Given the description of an element on the screen output the (x, y) to click on. 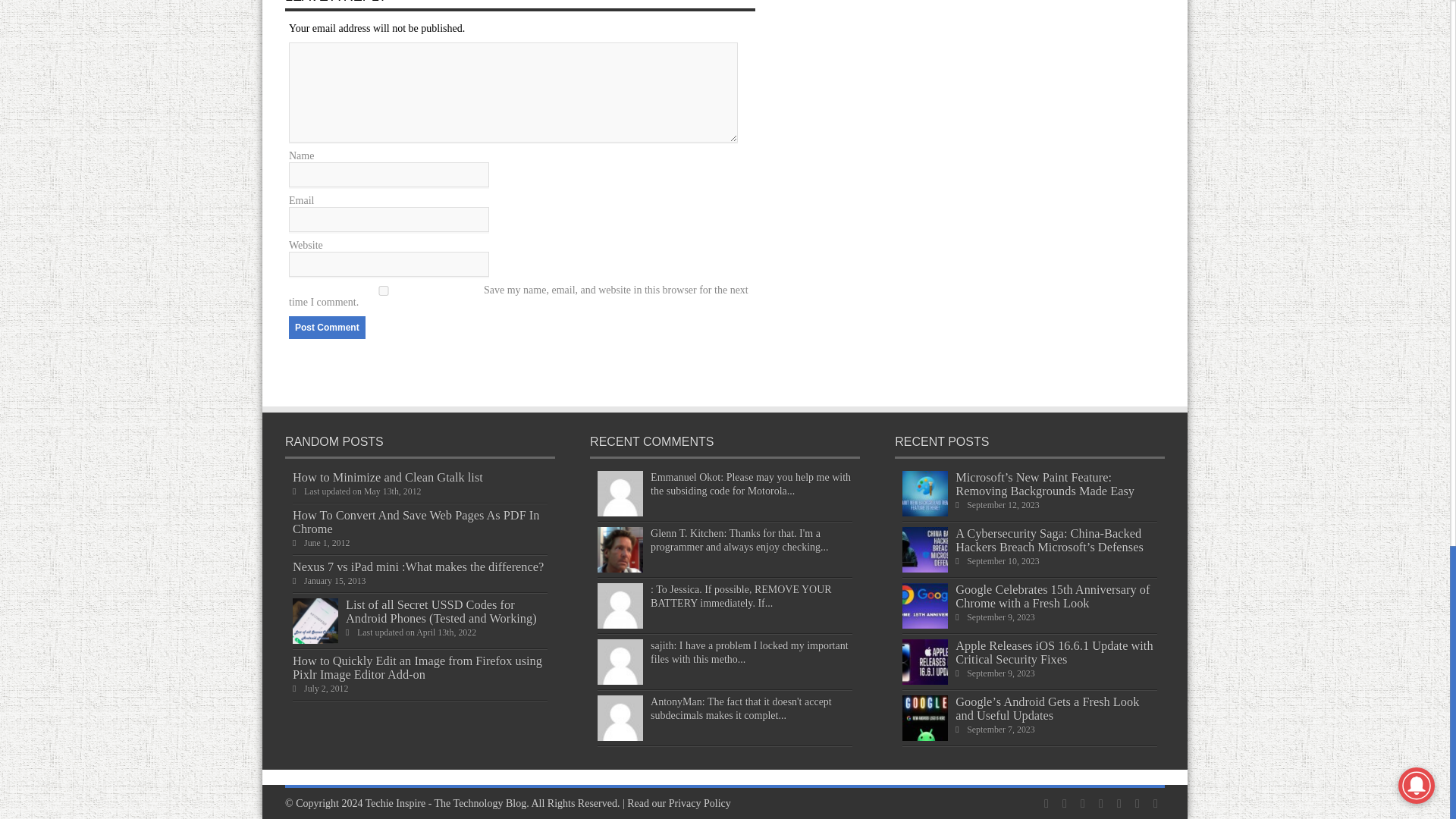
yes (383, 290)
Post Comment (326, 327)
